Given the description of an element on the screen output the (x, y) to click on. 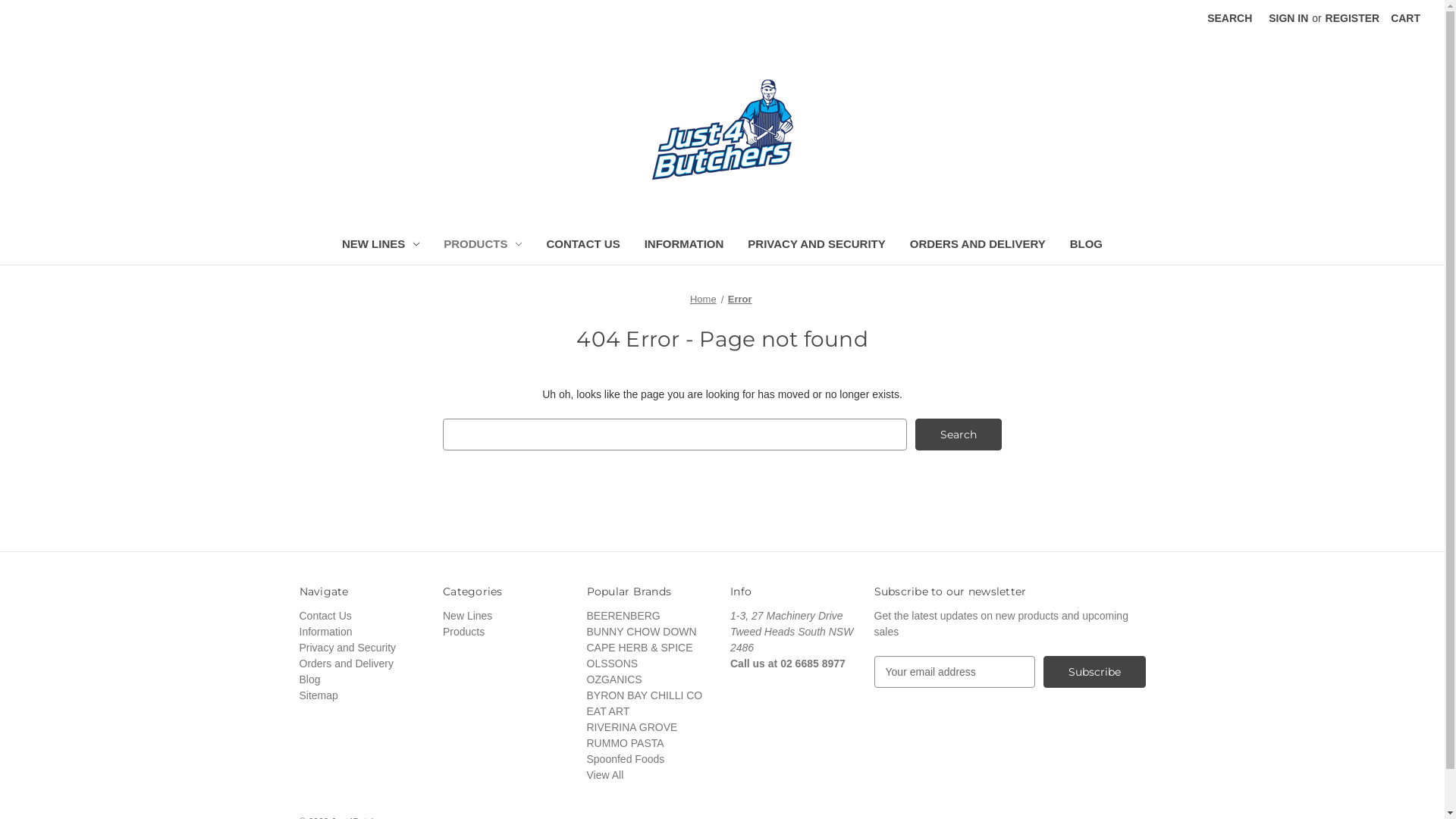
RIVERINA GROVE Element type: text (631, 727)
Spoonfed Foods Element type: text (625, 759)
NEW LINES Element type: text (380, 245)
BUNNY CHOW DOWN Element type: text (641, 631)
Orders and Delivery Element type: text (345, 663)
BYRON BAY CHILLI CO Element type: text (644, 695)
Error Element type: text (740, 298)
RUMMO PASTA Element type: text (625, 743)
Blog Element type: text (309, 679)
CART Element type: text (1405, 18)
Subscribe Element type: text (1094, 671)
BEERENBERG Element type: text (623, 615)
INFORMATION Element type: text (684, 245)
EAT ART Element type: text (608, 711)
Contact Us Element type: text (324, 615)
OZGANICS Element type: text (614, 679)
Just4Butchers Element type: hover (722, 129)
PRODUCTS Element type: text (482, 245)
SEARCH Element type: text (1229, 18)
BLOG Element type: text (1085, 245)
View All Element type: text (605, 774)
OLSSONS Element type: text (612, 663)
CONTACT US Element type: text (582, 245)
PRIVACY AND SECURITY Element type: text (816, 245)
Home Element type: text (703, 298)
SIGN IN Element type: text (1288, 18)
Sitemap Element type: text (317, 695)
CAPE HERB & SPICE Element type: text (639, 647)
ORDERS AND DELIVERY Element type: text (977, 245)
Search Element type: text (958, 434)
Information Element type: text (324, 631)
Privacy and Security Element type: text (346, 647)
Products Element type: text (463, 631)
New Lines Element type: text (467, 615)
REGISTER Element type: text (1352, 18)
